Given the description of an element on the screen output the (x, y) to click on. 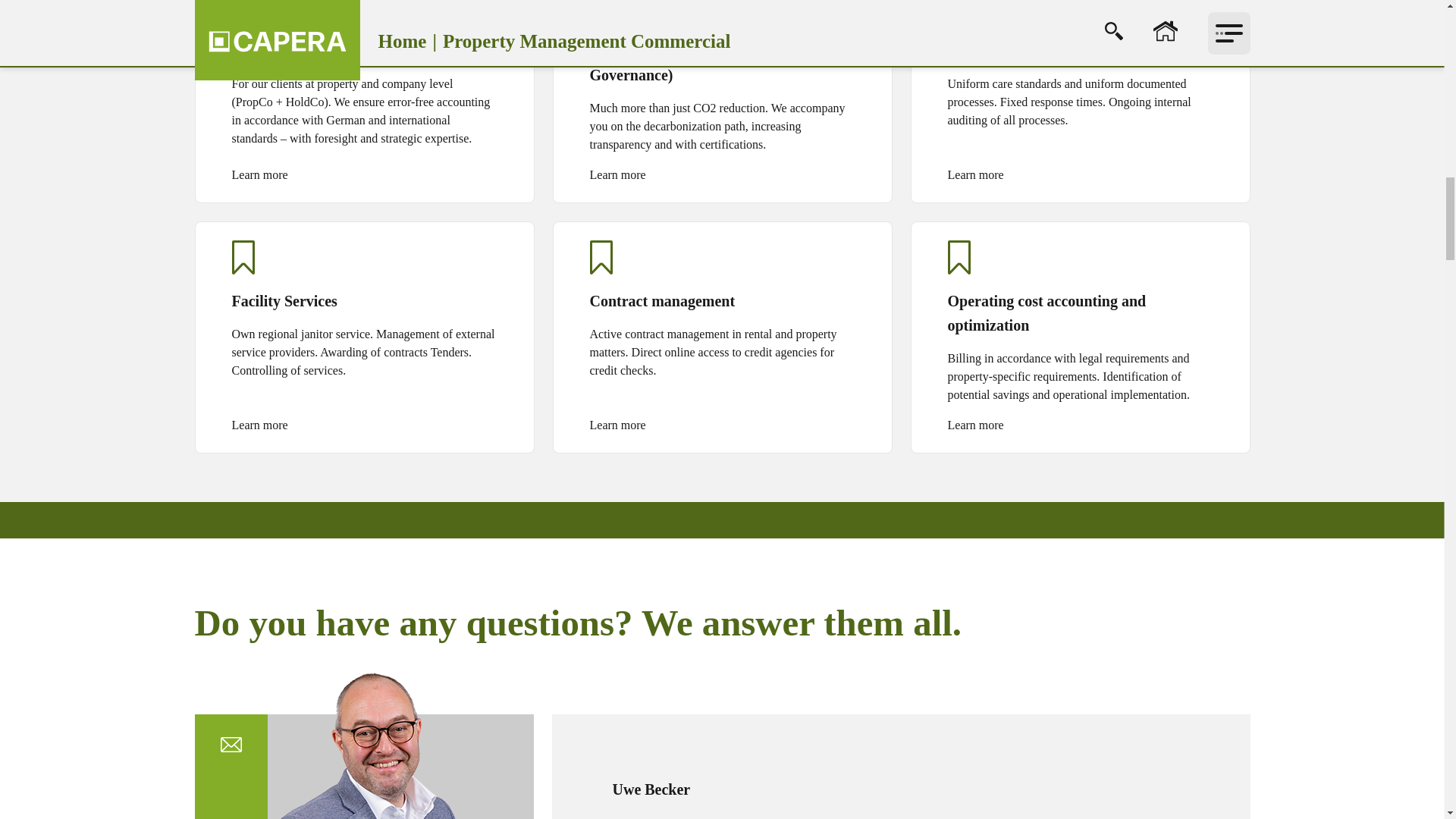
Learn more (259, 175)
Learn more (975, 175)
Learn more (617, 425)
Learn more (975, 425)
Learn more (259, 425)
Learn more (617, 175)
